Given the description of an element on the screen output the (x, y) to click on. 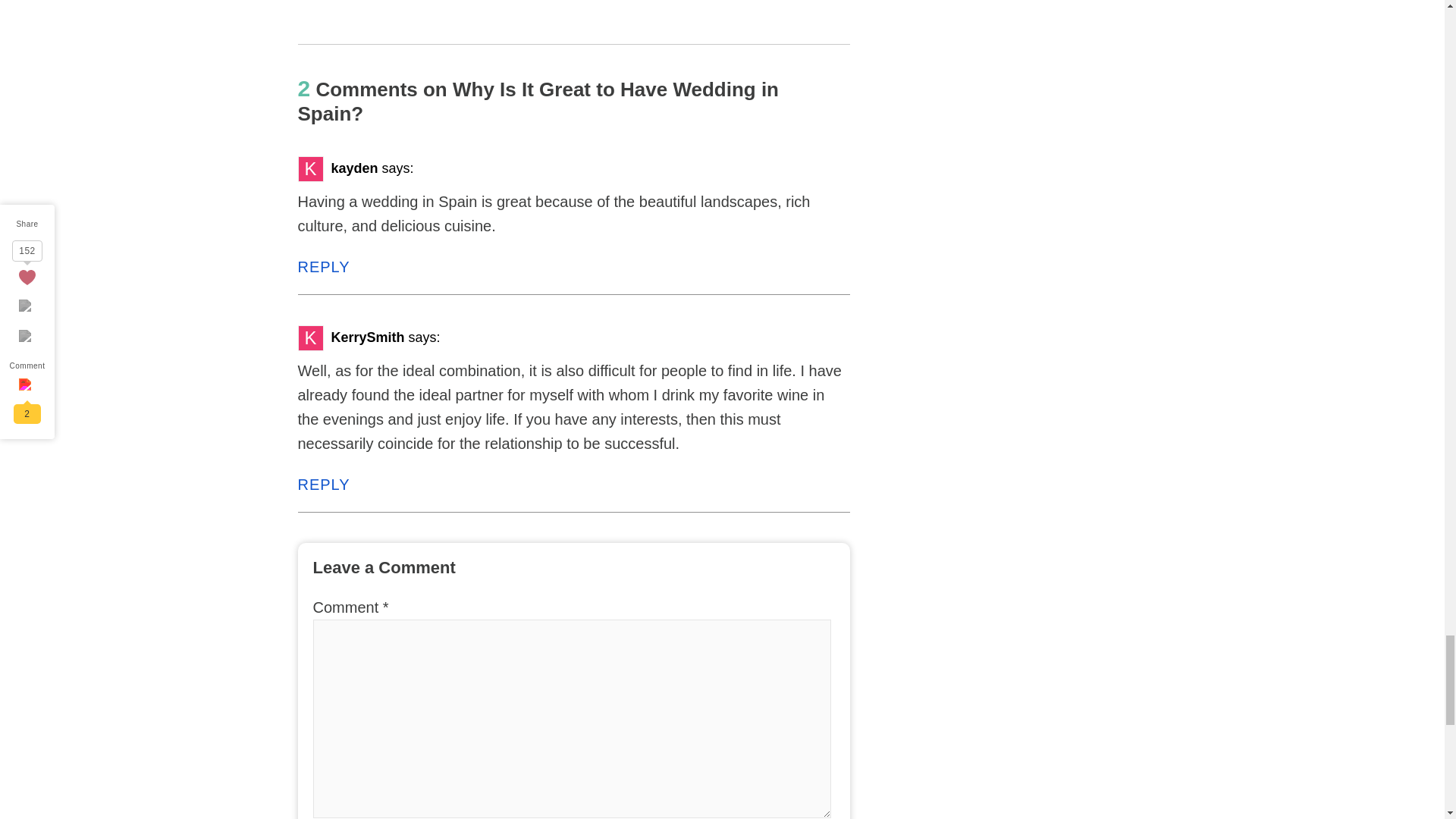
REPLY (323, 484)
REPLY (323, 266)
